Given the description of an element on the screen output the (x, y) to click on. 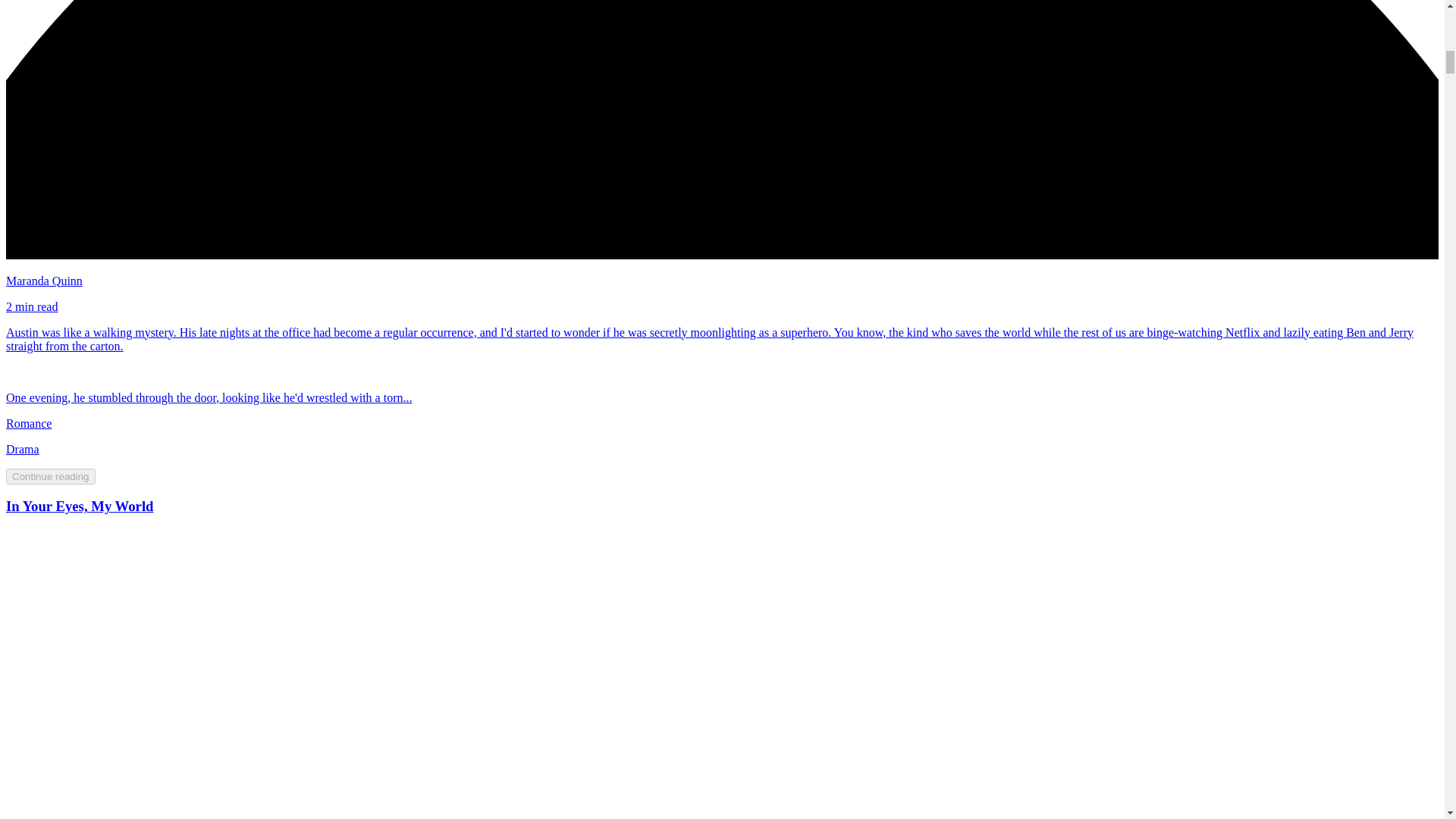
Continue reading (50, 476)
Continue reading (50, 475)
